Given the description of an element on the screen output the (x, y) to click on. 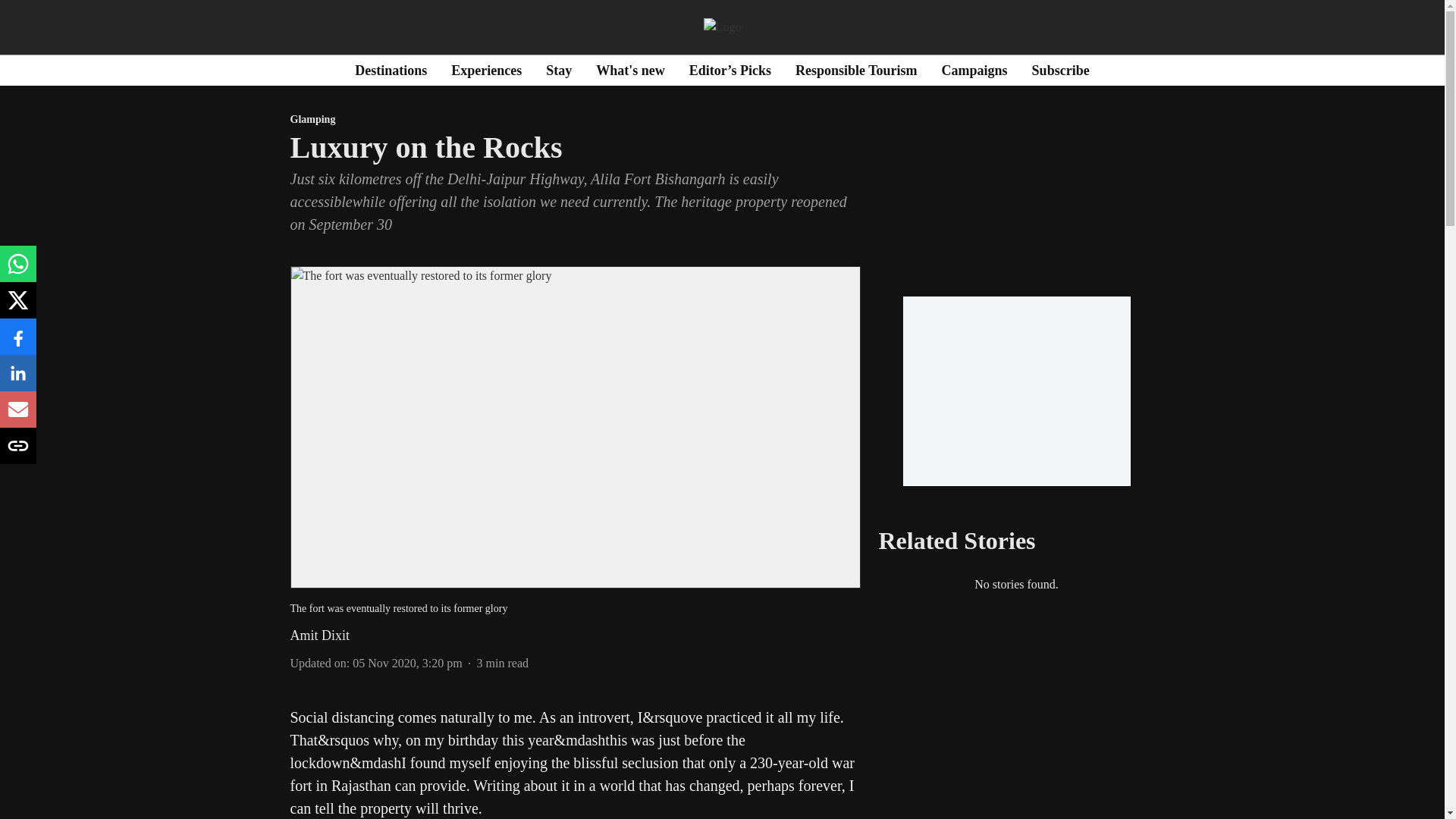
Glamping (574, 119)
Stay (559, 70)
Subscribe (1060, 70)
Experiences (486, 70)
What's new (630, 70)
Responsible Tourism (855, 70)
Amit Dixit (319, 635)
Destinations (390, 70)
